Given the description of an element on the screen output the (x, y) to click on. 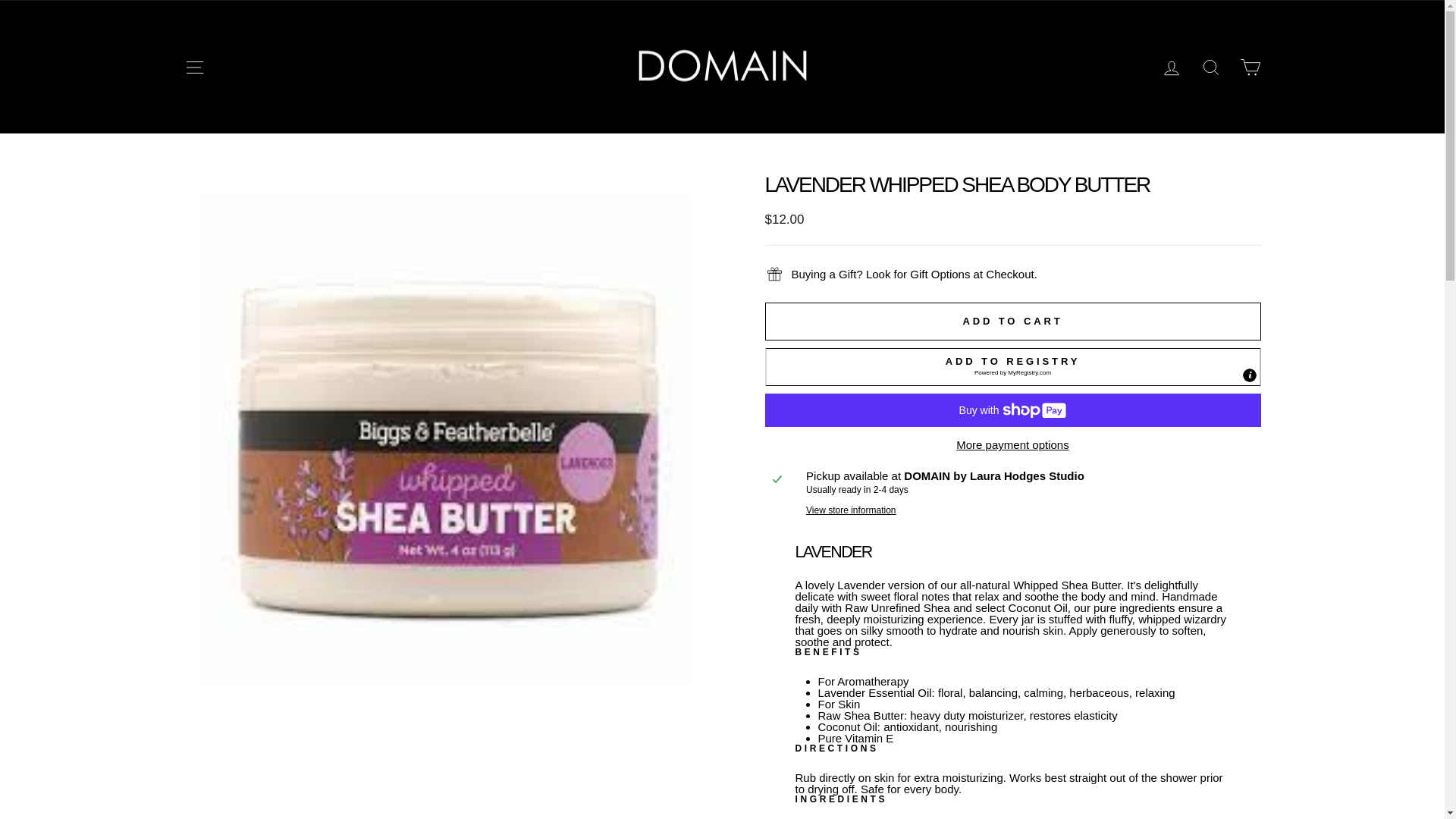
ICON-SEARCH (1210, 66)
ICON-HAMBURGER (194, 66)
ACCOUNT (1170, 67)
